Given the description of an element on the screen output the (x, y) to click on. 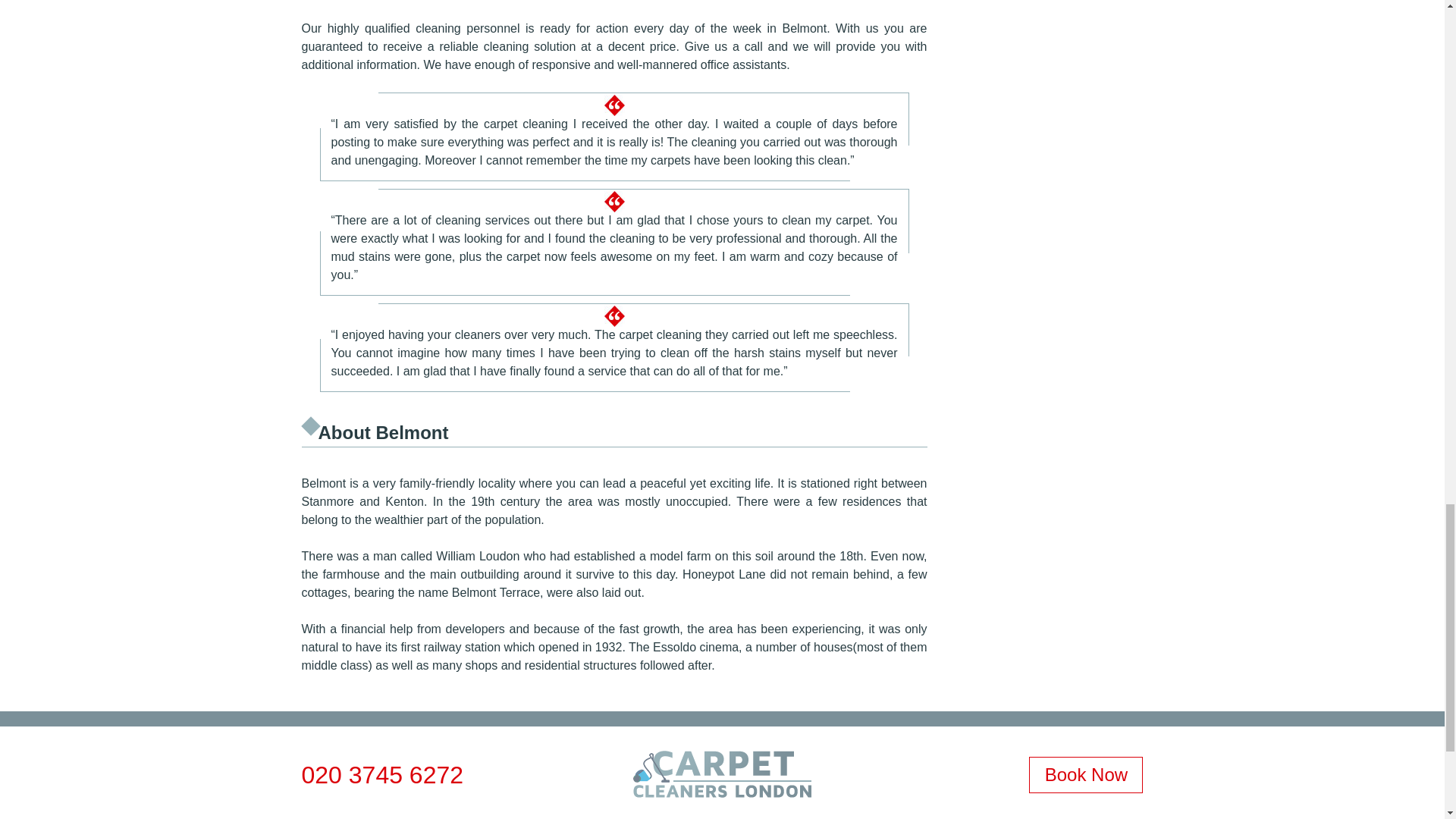
Book Now (1085, 774)
020 3745 6272 (382, 774)
